Given the description of an element on the screen output the (x, y) to click on. 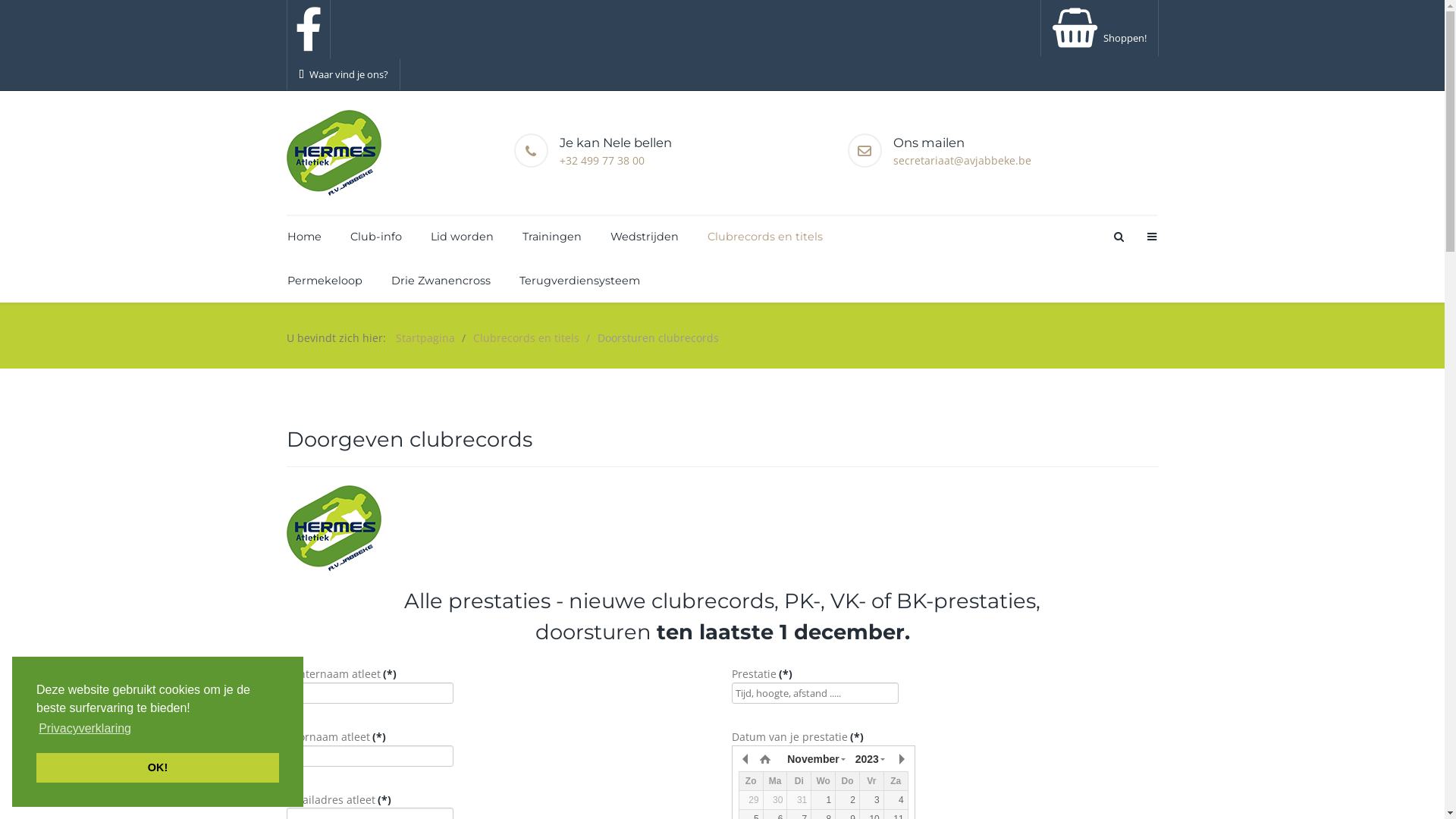
Drie Zwanencross Element type: text (439, 280)
Zoeken Element type: hover (1117, 235)
Trainingen Element type: text (551, 236)
+32 499 77 38 00 Element type: text (601, 160)
Privacyverklaring Element type: text (84, 728)
Wedstrijden Element type: text (644, 236)
Permekeloop Element type: text (324, 280)
Logo AV Jabbeke Element type: hover (333, 528)
AV Jabbeke Element type: hover (333, 152)
Waar vind je ons? Element type: text (343, 74)
Clubrecords en titels Element type: text (526, 337)
Shoppen! Element type: text (1099, 37)
Home Element type: text (304, 236)
Lid worden Element type: text (461, 236)
Club-info Element type: text (375, 236)
Mobile  Element type: hover (1150, 235)
OK! Element type: text (157, 767)
Clubrecords en titels Element type: text (764, 236)
Facebook Element type: hover (308, 29)
secretariaat@avjabbeke.be Element type: text (962, 160)
Terugverdiensysteem Element type: text (573, 280)
Startpagina Element type: text (425, 337)
